Given the description of an element on the screen output the (x, y) to click on. 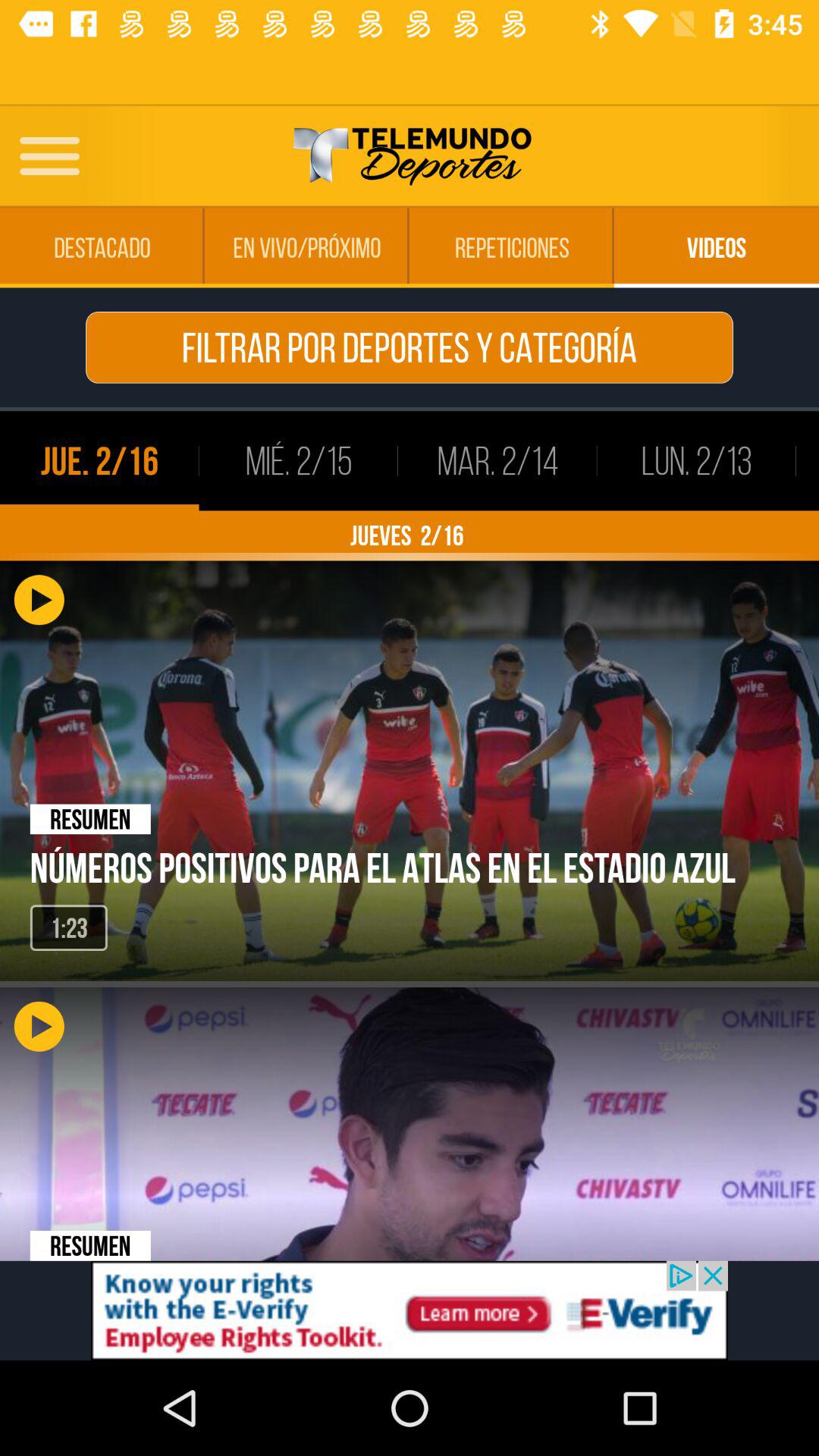
click on the fourth option from the first row (716, 248)
select the  play  button which is below 123 (63, 1026)
